Given the description of an element on the screen output the (x, y) to click on. 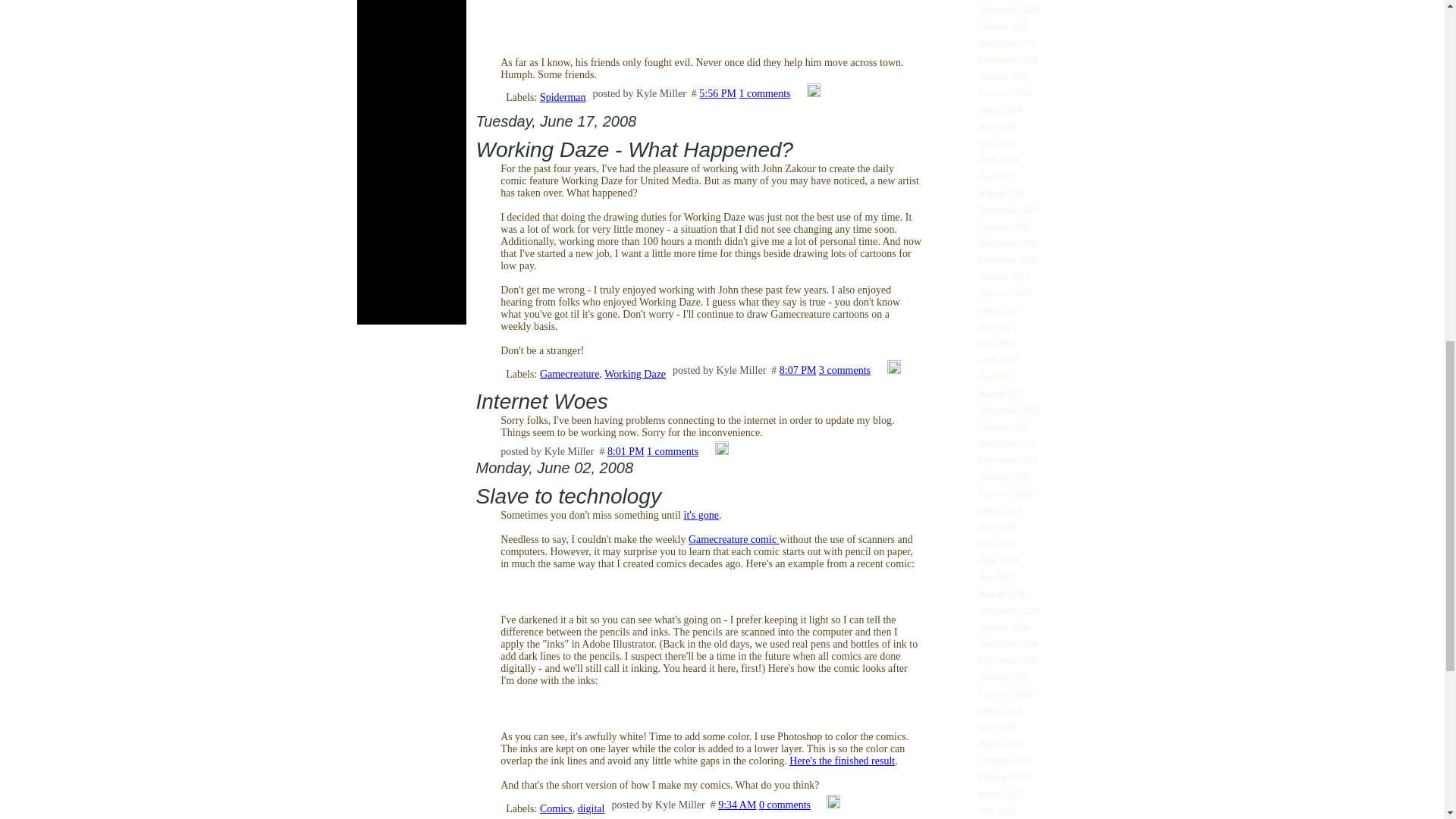
8:07 PM (797, 369)
it's gone (701, 514)
Edit Post (721, 451)
1 comments (672, 451)
permanent link (717, 93)
Advertisement (411, 157)
8:01 PM (626, 451)
Email Post (707, 451)
Working Daze (634, 374)
1 comments (764, 93)
permanent link (626, 451)
Gamecreature (569, 374)
Email Post (879, 369)
Spiderman (563, 97)
3 comments (844, 369)
